Given the description of an element on the screen output the (x, y) to click on. 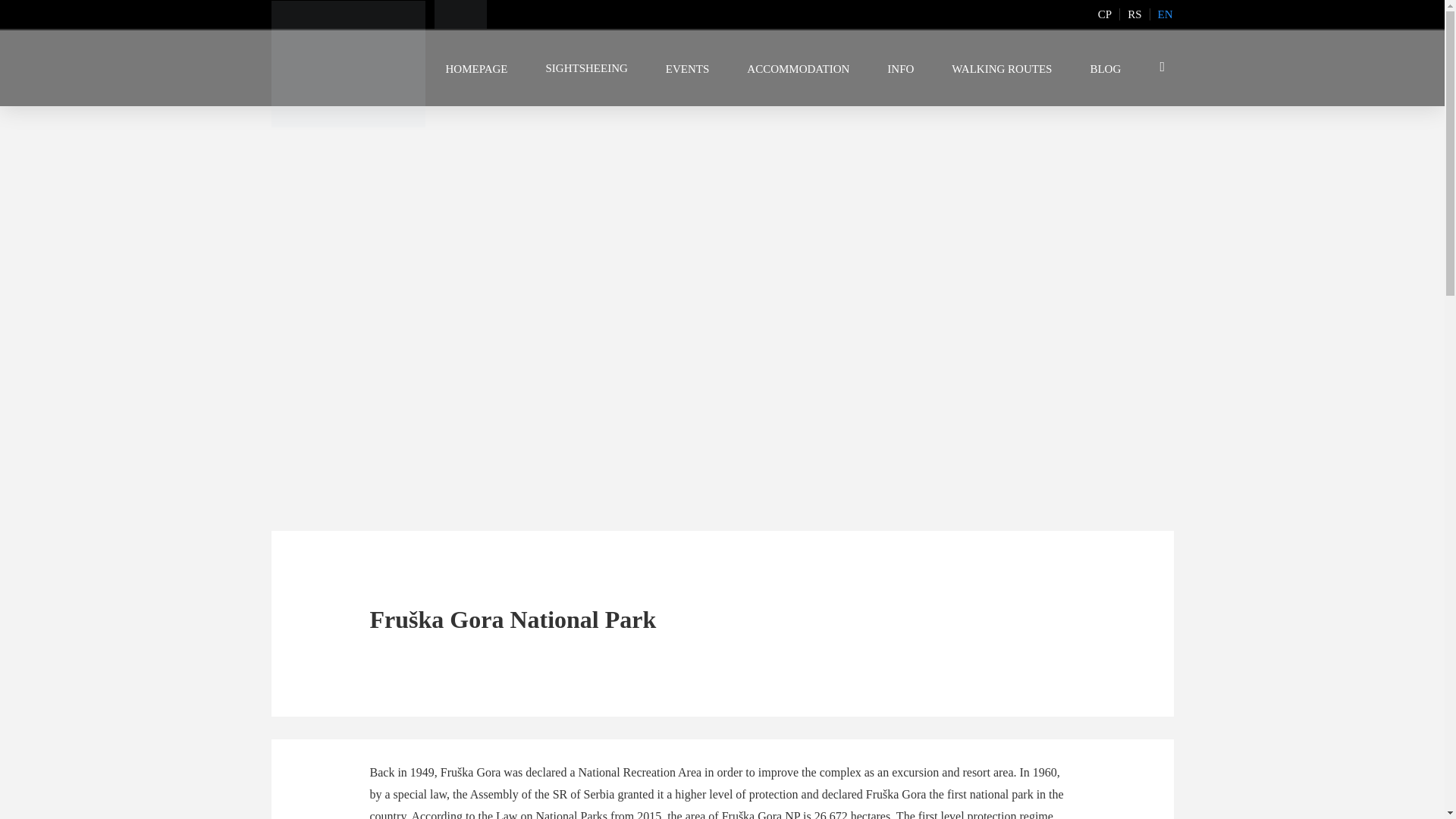
CP (1104, 14)
INFO (900, 68)
Go (1160, 67)
ACCOMMODATION (798, 68)
SIGHTSHEEING (585, 67)
Novi Sad Tourism Organisation (459, 14)
EN (1164, 14)
EVENTS (687, 68)
HOMEPAGE (476, 68)
RS (1133, 14)
